Given the description of an element on the screen output the (x, y) to click on. 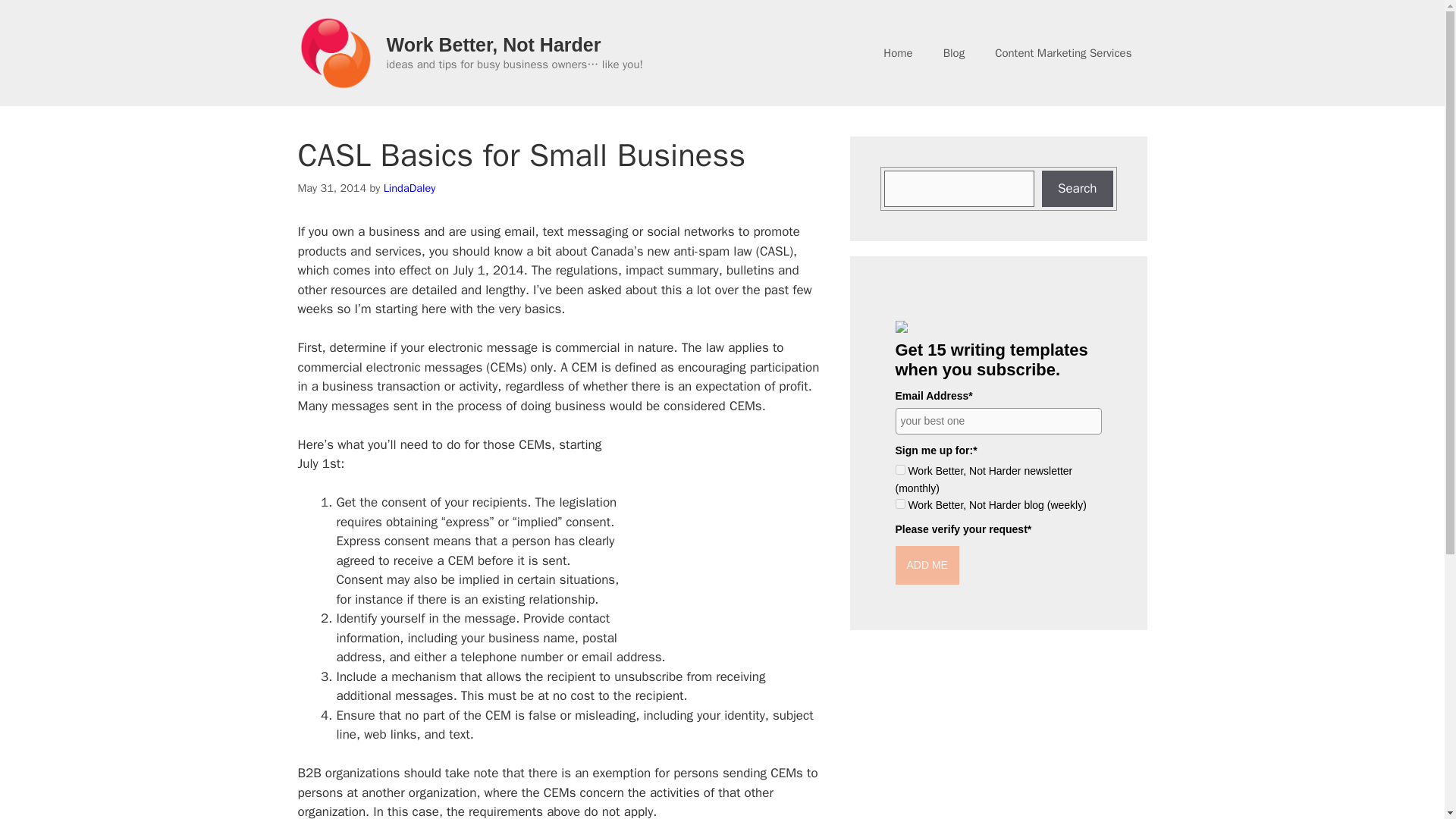
Search (1077, 188)
Blog (953, 53)
2 (899, 503)
Home (897, 53)
1 (899, 470)
ADD ME (926, 565)
Content Marketing Services (1063, 53)
Work Better, Not Harder (494, 44)
View all posts by LindaDaley (409, 187)
LindaDaley (409, 187)
